Given the description of an element on the screen output the (x, y) to click on. 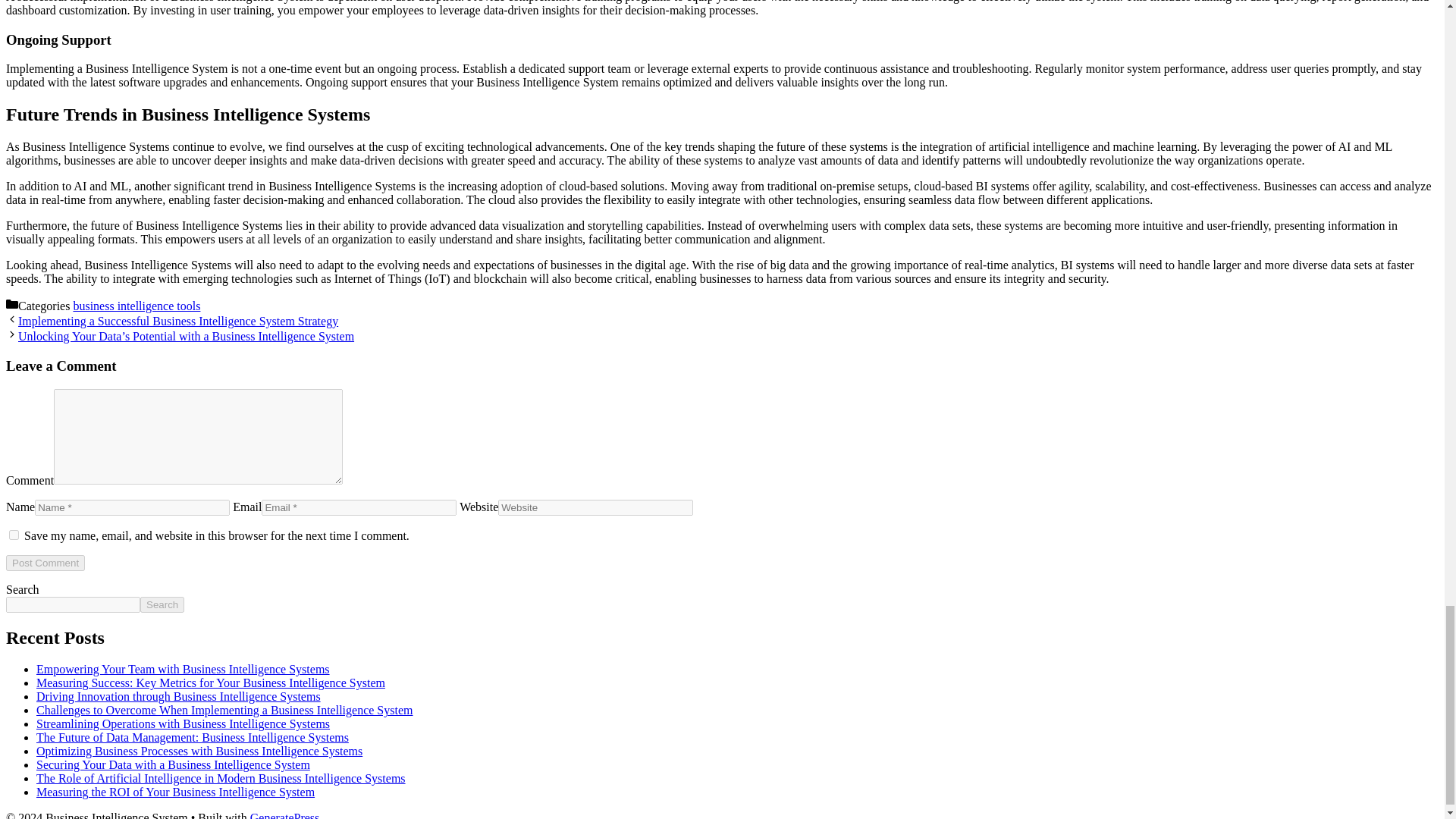
yes (13, 534)
Driving Innovation through Business Intelligence Systems (178, 696)
Empowering Your Team with Business Intelligence Systems (183, 668)
Securing Your Data with a Business Intelligence System (173, 764)
Post Comment (44, 562)
The Future of Data Management: Business Intelligence Systems (192, 737)
